Given the description of an element on the screen output the (x, y) to click on. 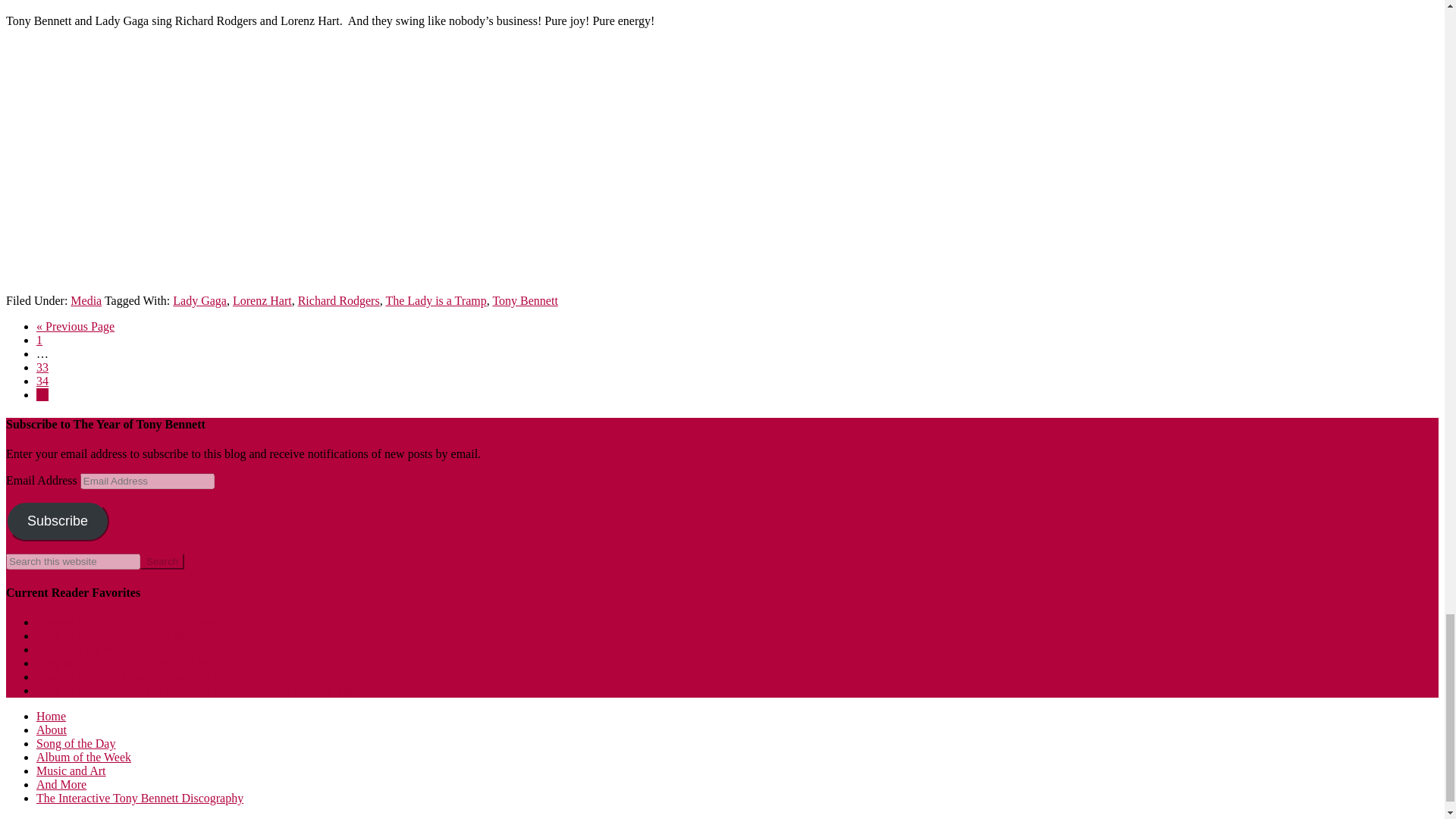
Search (161, 561)
Search (161, 561)
